Given the description of an element on the screen output the (x, y) to click on. 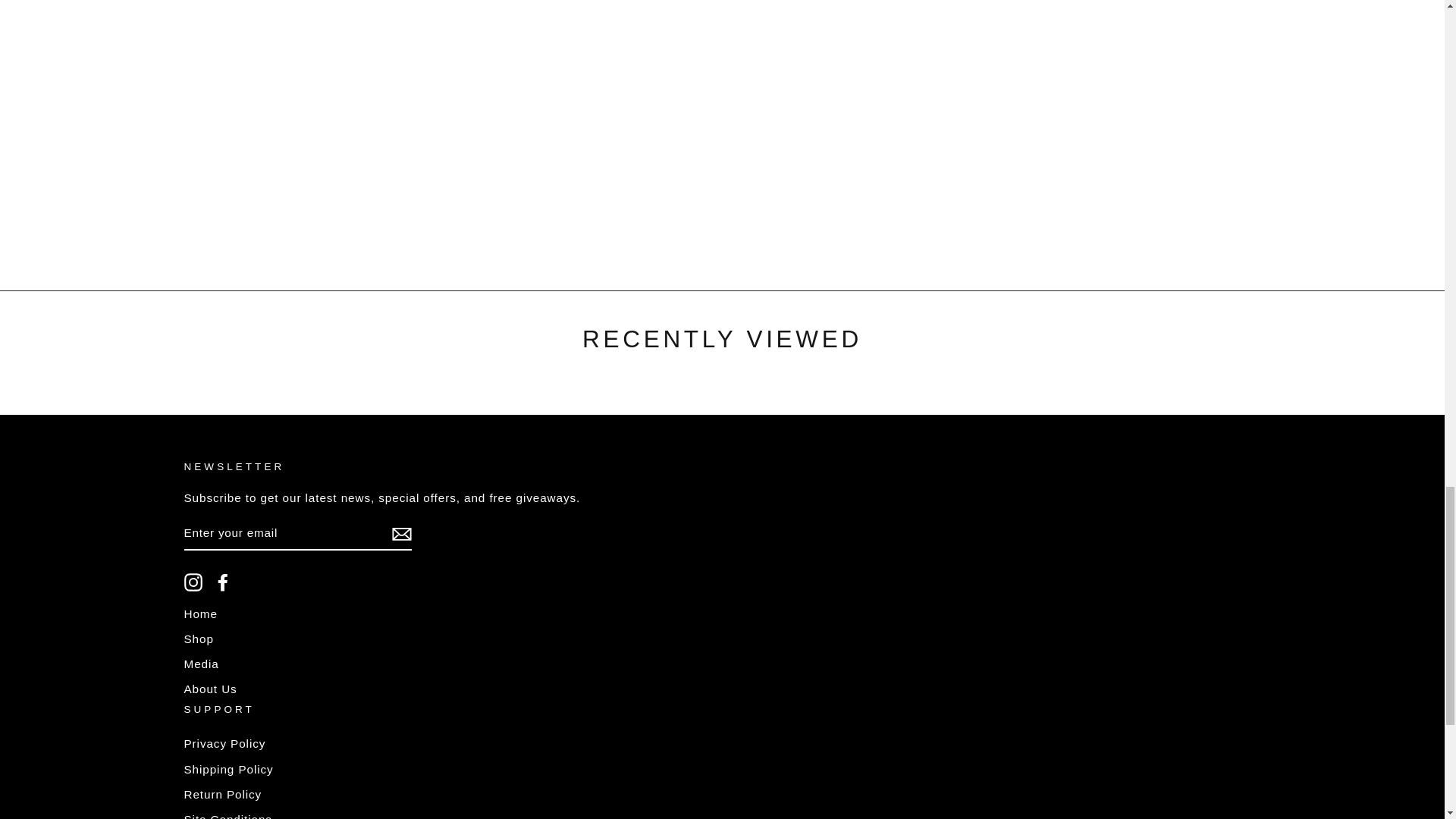
Revolting Performance on Facebook (222, 582)
Revolting Performance on Instagram (192, 582)
